Given the description of an element on the screen output the (x, y) to click on. 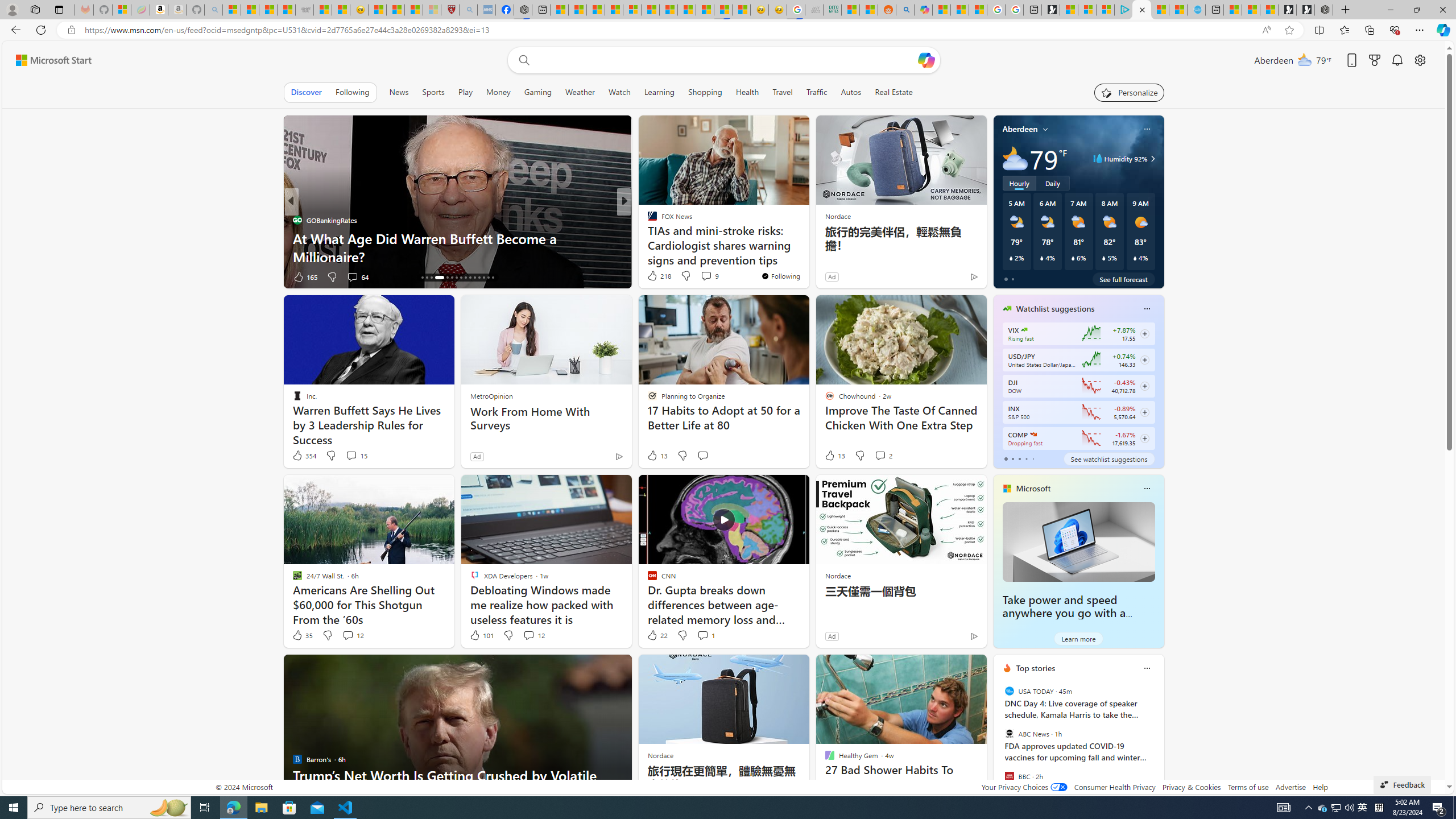
101 Like (480, 634)
AutomationID: tab-26 (474, 277)
AutomationID: tab-16 (422, 277)
452 Like (654, 276)
View comments 66 Comment (703, 276)
View comments 5 Comment (698, 276)
